Given the description of an element on the screen output the (x, y) to click on. 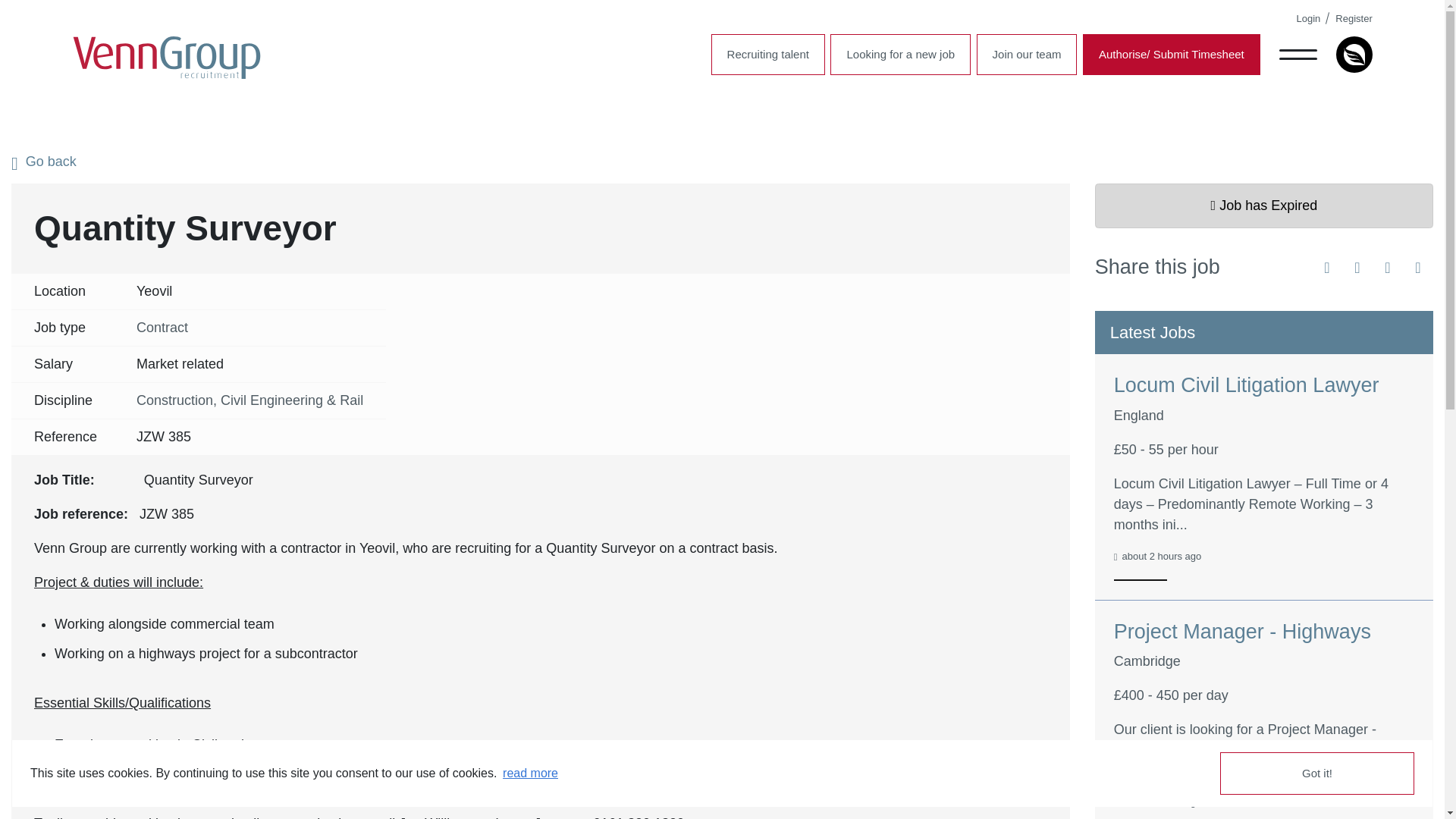
Login (1308, 18)
Join our team (1026, 55)
Register (1353, 18)
read more (530, 773)
Got it! (1316, 773)
Looking for a new job (900, 55)
Recruiting talent (768, 55)
Venn Group (166, 58)
Go to the Homepage (166, 58)
